Given the description of an element on the screen output the (x, y) to click on. 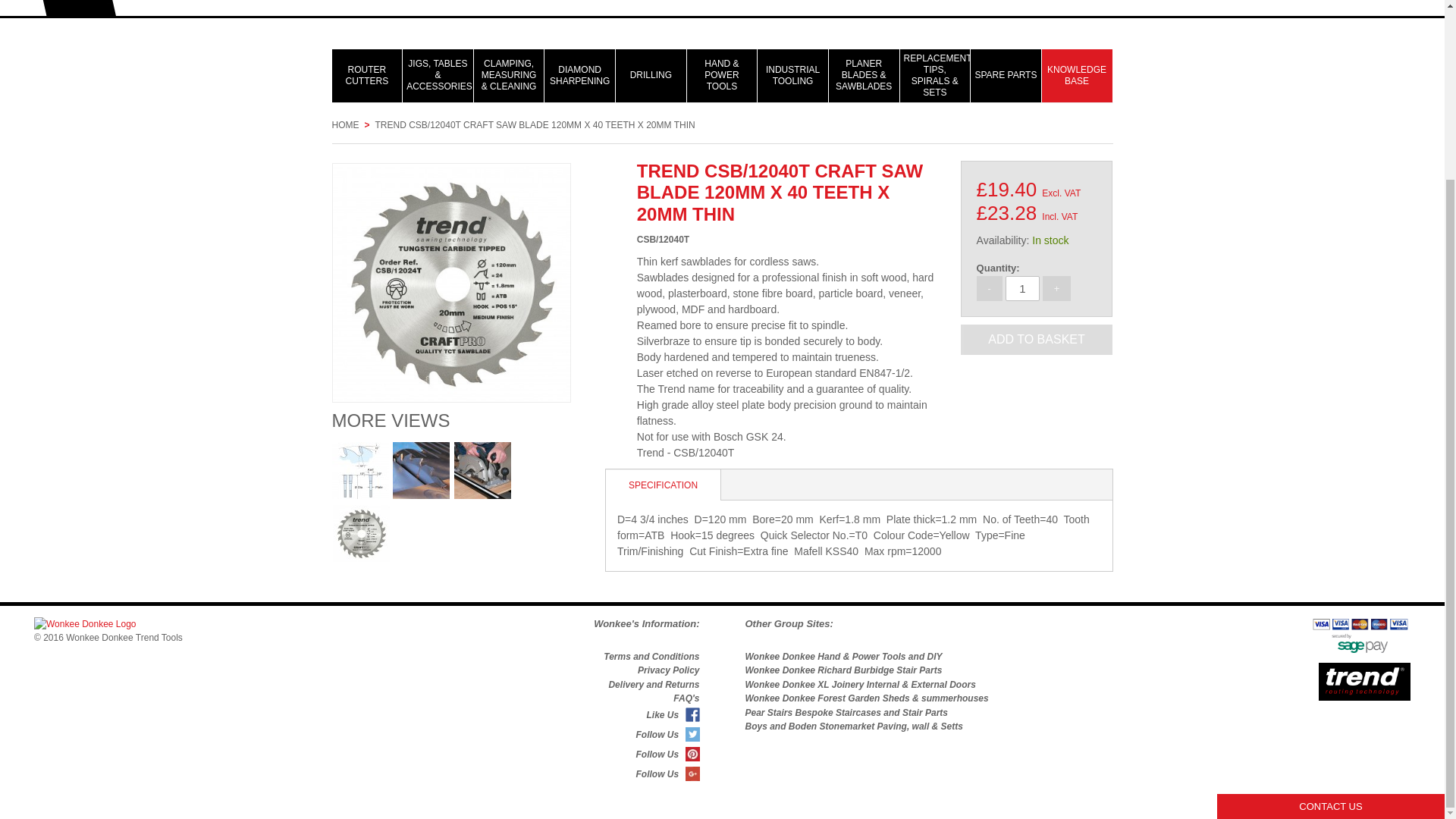
Delivery and Returns (653, 684)
ROUTER CUTTERS (367, 75)
HOME (345, 124)
INDUSTRIAL TOOLING (792, 75)
Pear Stairs for complete staircases and stair parts (845, 712)
Privacy Policy (667, 670)
Terms and Conditions (651, 656)
Terms and Conditions (651, 656)
KNOWLEDGE BASE (1077, 75)
